Given the description of an element on the screen output the (x, y) to click on. 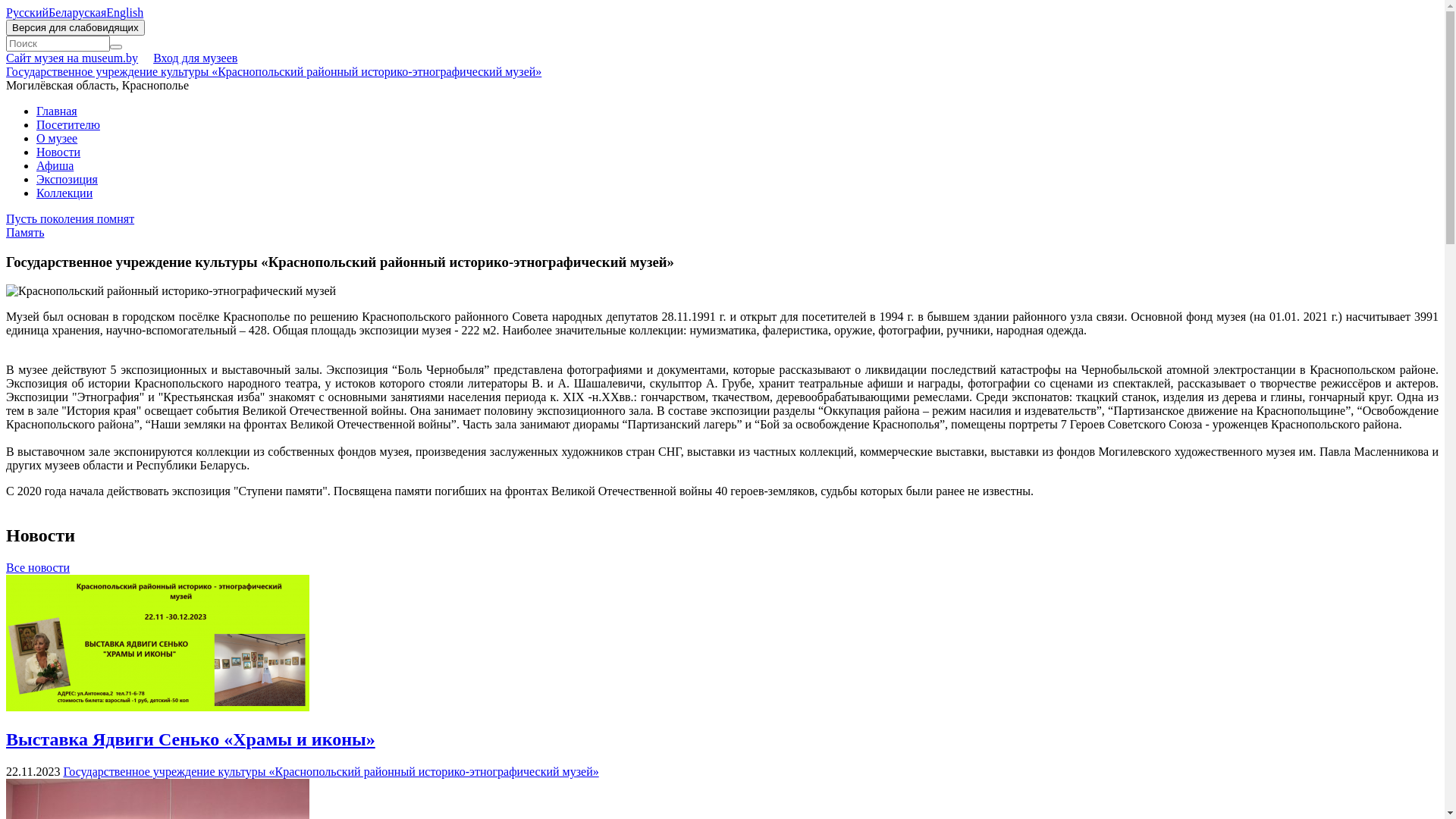
English Element type: text (124, 12)
